Given the description of an element on the screen output the (x, y) to click on. 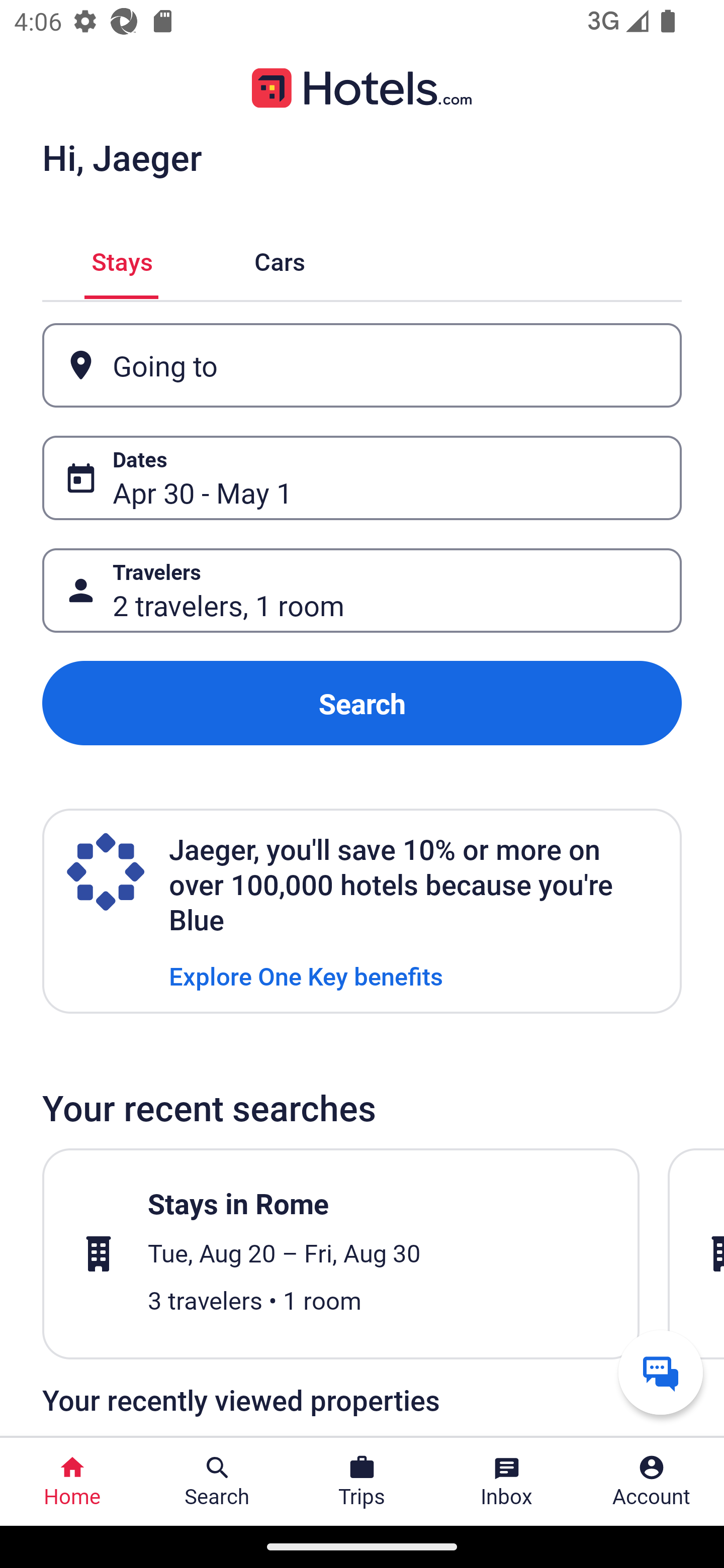
Hi, Jaeger (121, 156)
Cars (279, 259)
Going to Button (361, 365)
Dates Button Apr 30 - May 1 (361, 477)
Travelers Button 2 travelers, 1 room (361, 590)
Search (361, 702)
Get help from a virtual agent (660, 1371)
Search Search Button (216, 1481)
Trips Trips Button (361, 1481)
Inbox Inbox Button (506, 1481)
Account Profile. Button (651, 1481)
